Given the description of an element on the screen output the (x, y) to click on. 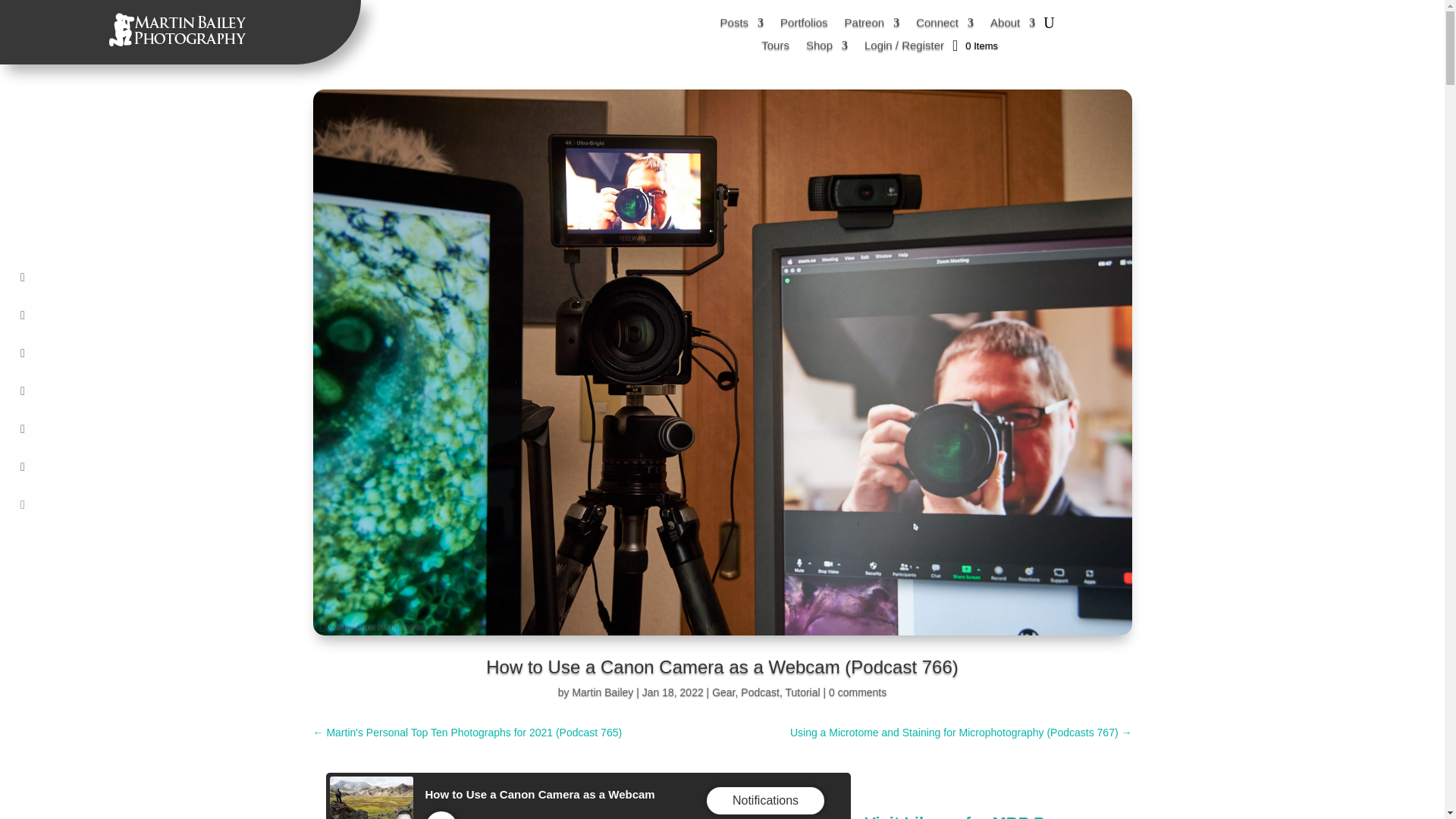
Connect (944, 25)
Connect with Martin Bailey Photography (944, 25)
Posts (742, 25)
About (1012, 25)
Patreon (871, 25)
Portfolios (804, 25)
MBP Logo (180, 30)
